Given the description of an element on the screen output the (x, y) to click on. 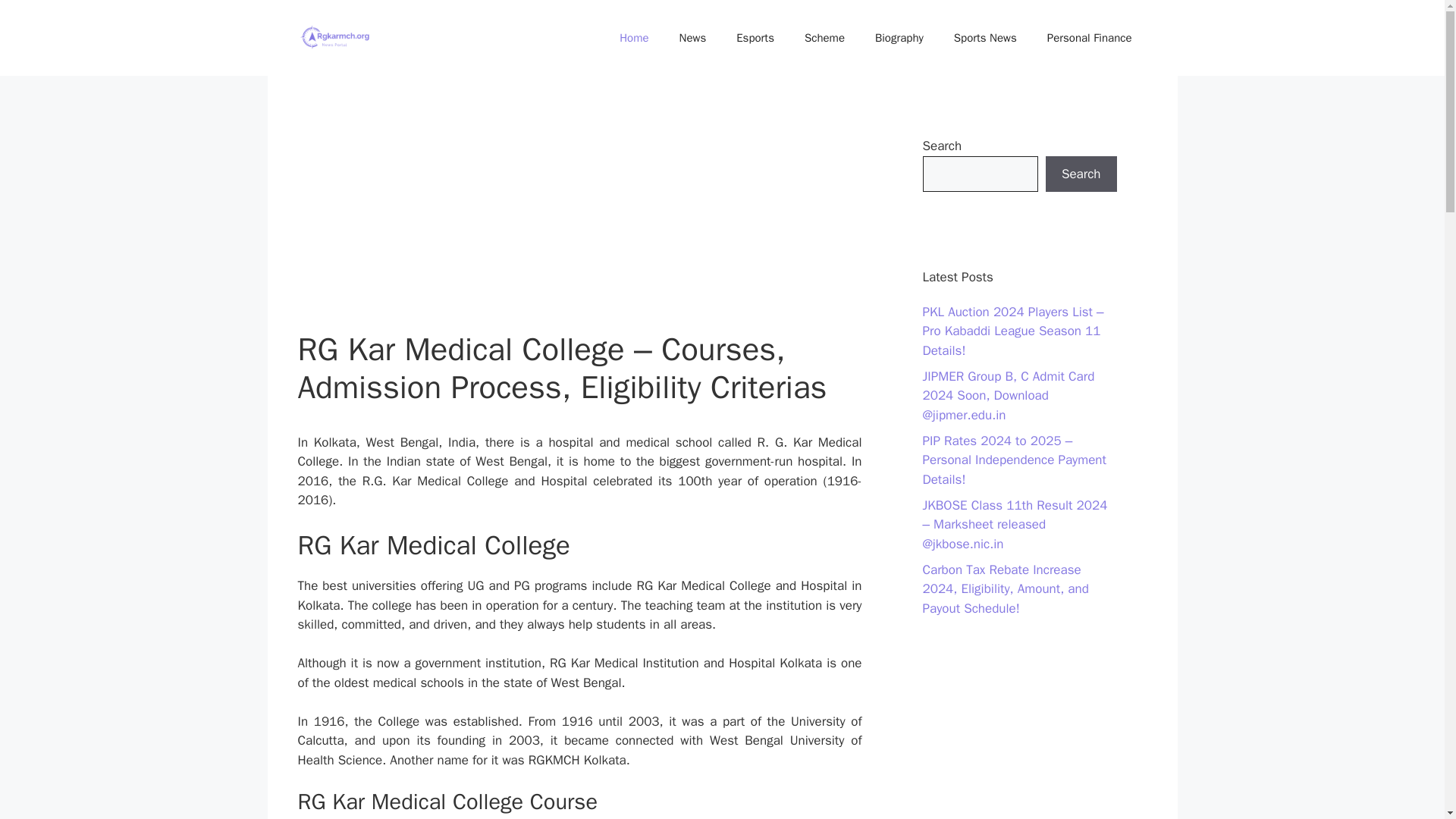
Home (633, 37)
Scheme (824, 37)
Biography (899, 37)
News (692, 37)
Esports (754, 37)
Personal Finance (1089, 37)
Sports News (985, 37)
Search (1080, 174)
Advertisement (579, 218)
